Given the description of an element on the screen output the (x, y) to click on. 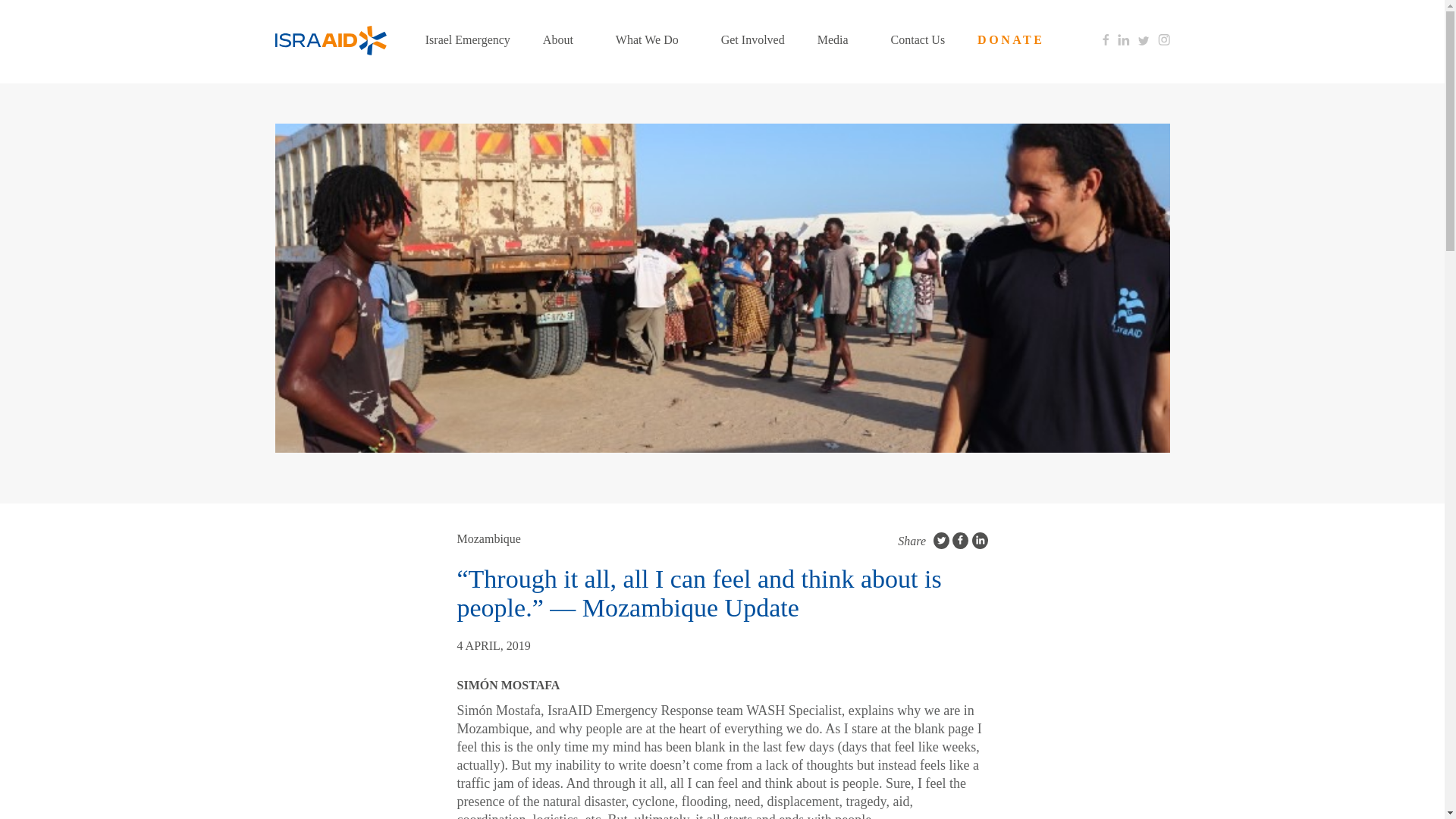
Media (837, 39)
Get Involved (752, 39)
Israel Emergency (468, 39)
What We Do (651, 39)
Contact Us (917, 39)
About (563, 39)
DONATE (1009, 39)
